Given the description of an element on the screen output the (x, y) to click on. 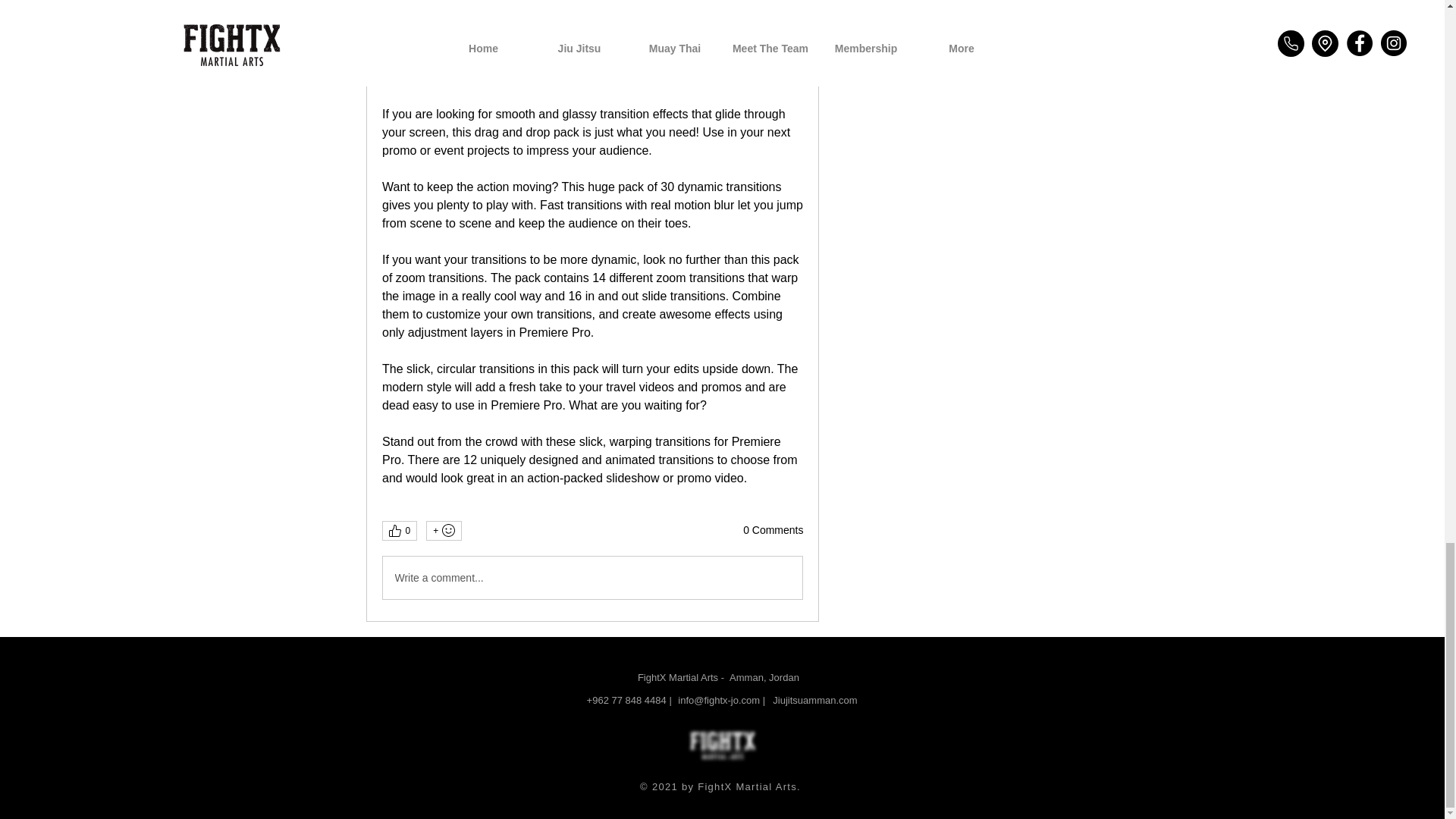
0 Comments (772, 530)
Write a comment... (591, 577)
